Given the description of an element on the screen output the (x, y) to click on. 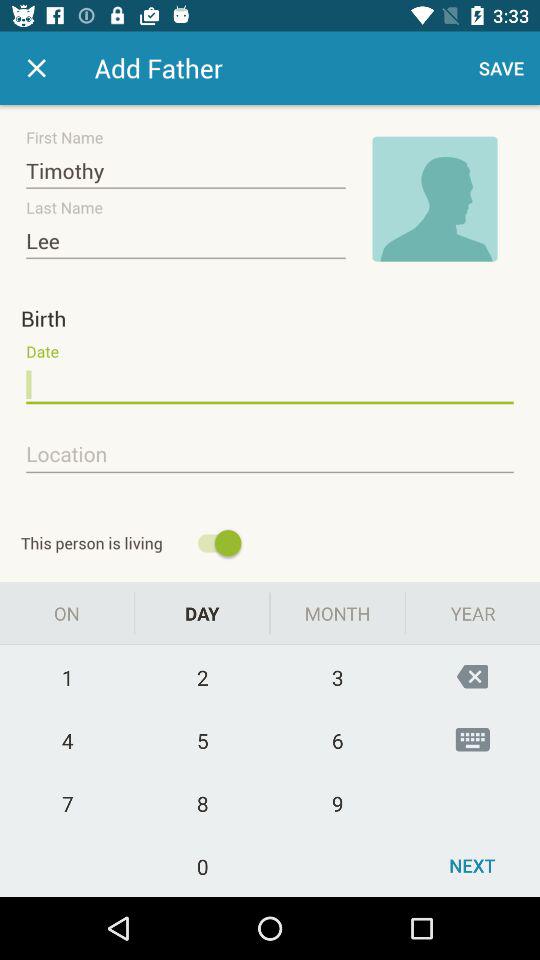
type location (270, 455)
